Given the description of an element on the screen output the (x, y) to click on. 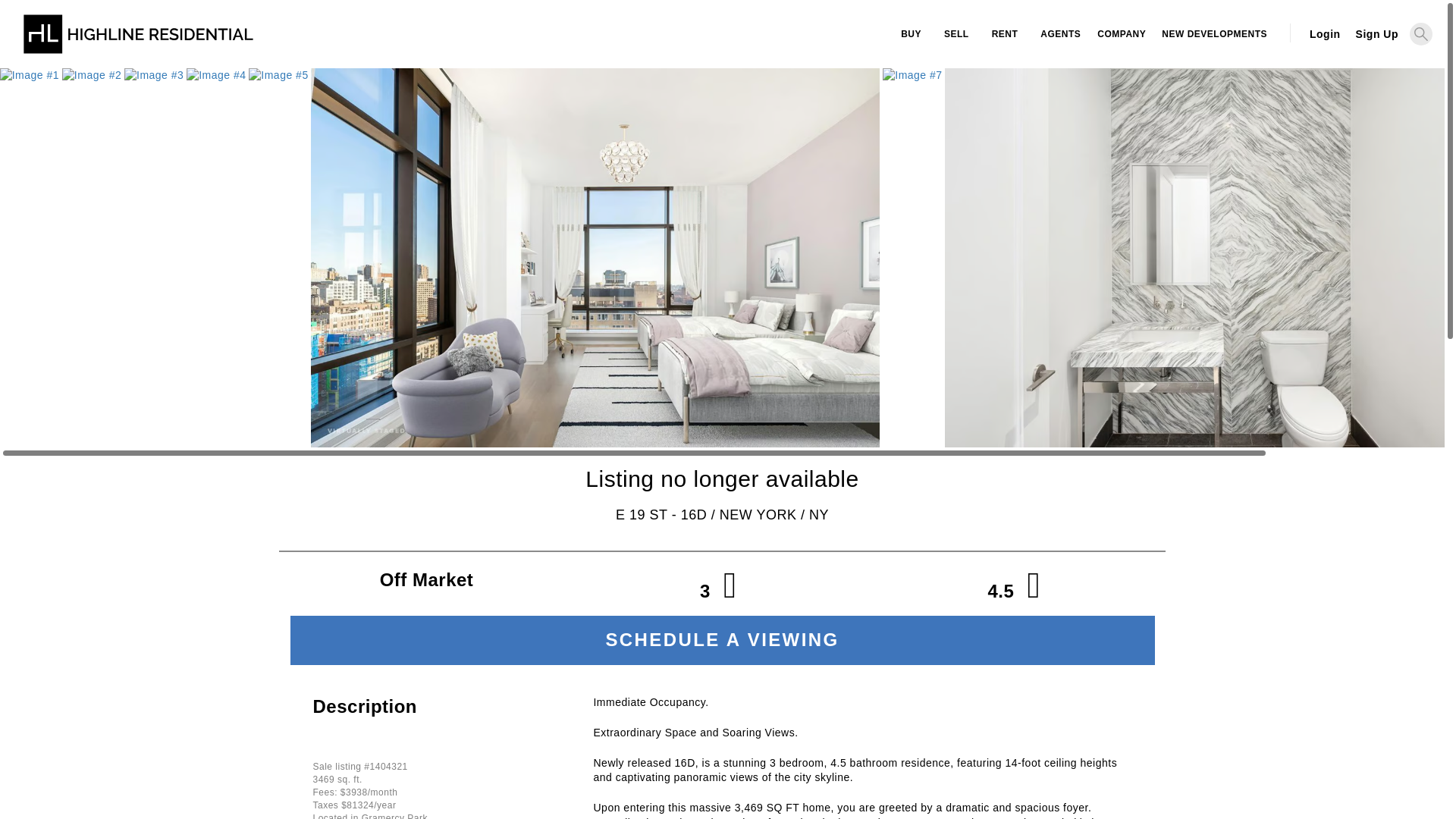
COMPANY (1119, 33)
AGENTS (1059, 33)
Highline Residential (137, 41)
Listings to Buy (911, 33)
Login to Highline Residential (1324, 33)
About Highline Residential (1119, 33)
NEW DEVELOPMENTS (1214, 33)
Image 2 for East 19th Street (91, 75)
RENT (1004, 33)
Listings for Rent (1004, 33)
